Given the description of an element on the screen output the (x, y) to click on. 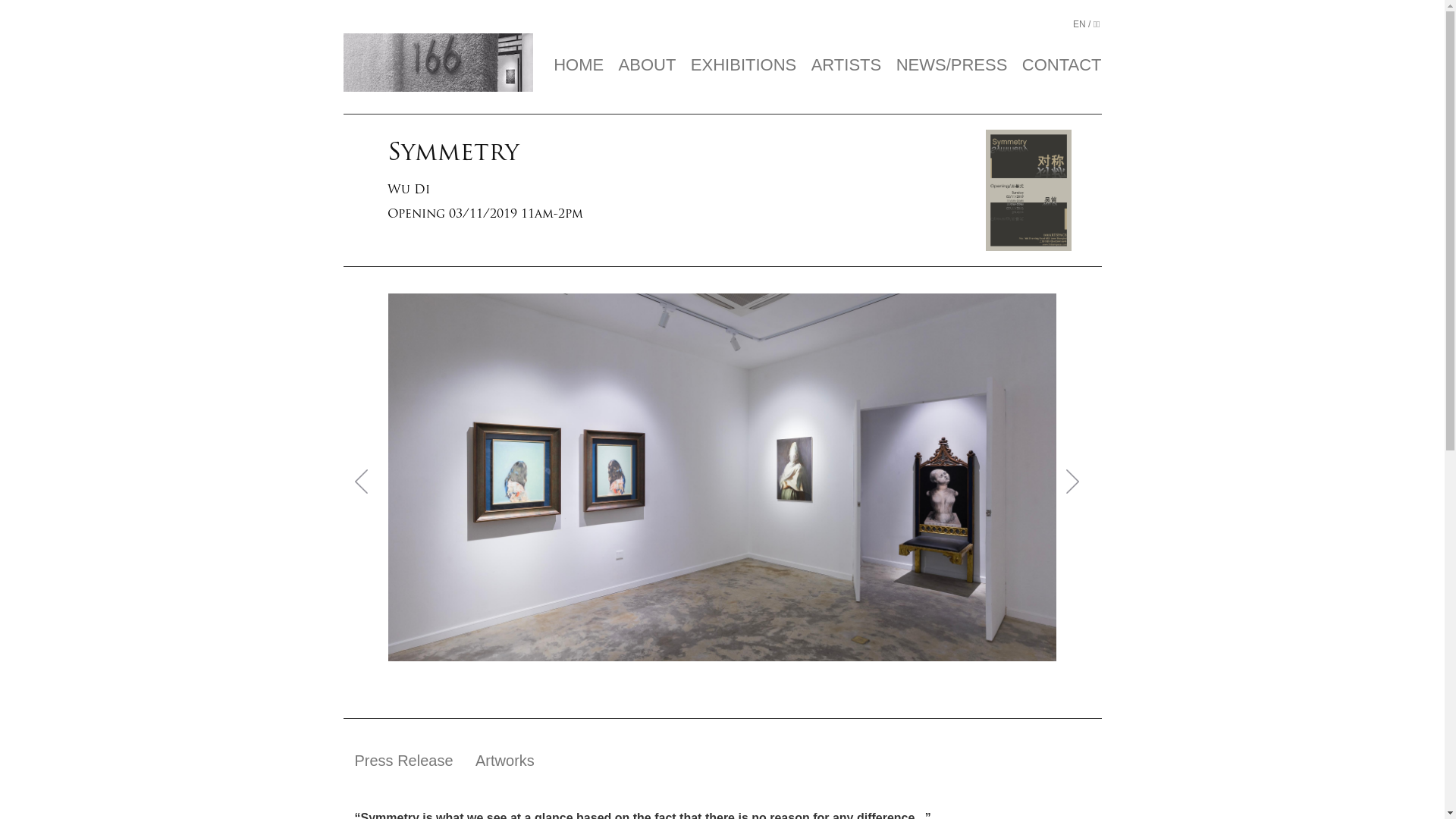
NEWS/PRESS Element type: text (951, 64)
ABOUT Element type: text (647, 64)
HOME Element type: text (578, 64)
EN Element type: text (1079, 23)
EXHIBITIONS Element type: text (743, 64)
Press Release Element type: text (403, 760)
Artworks Element type: text (504, 760)
Next Element type: text (1078, 480)
ARTISTS Element type: text (846, 64)
Prev Element type: text (366, 480)
CONTACT Element type: text (1061, 64)
